Given the description of an element on the screen output the (x, y) to click on. 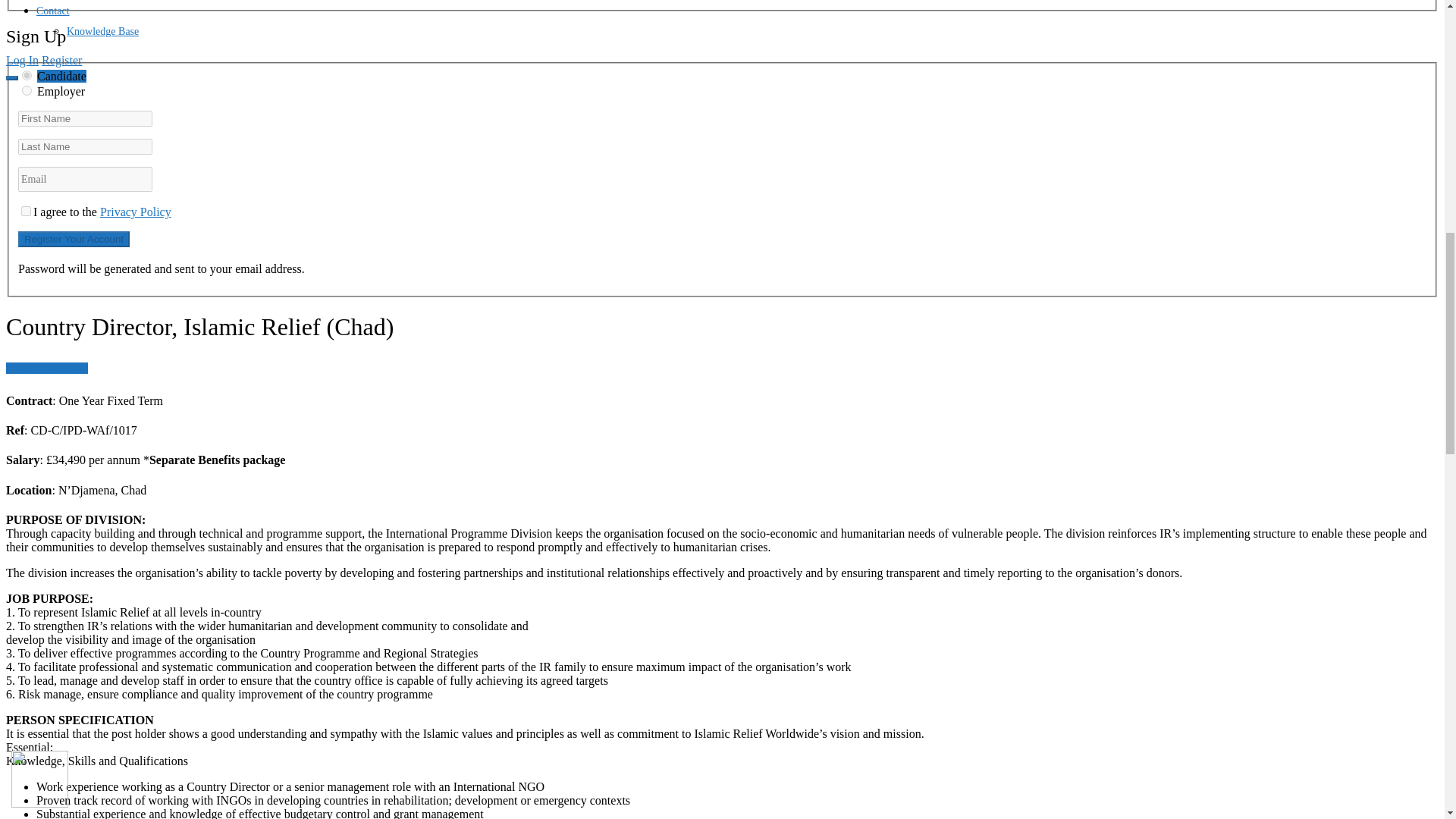
candidate (26, 75)
Register Your Account (73, 238)
on (25, 211)
employer (26, 90)
